Given the description of an element on the screen output the (x, y) to click on. 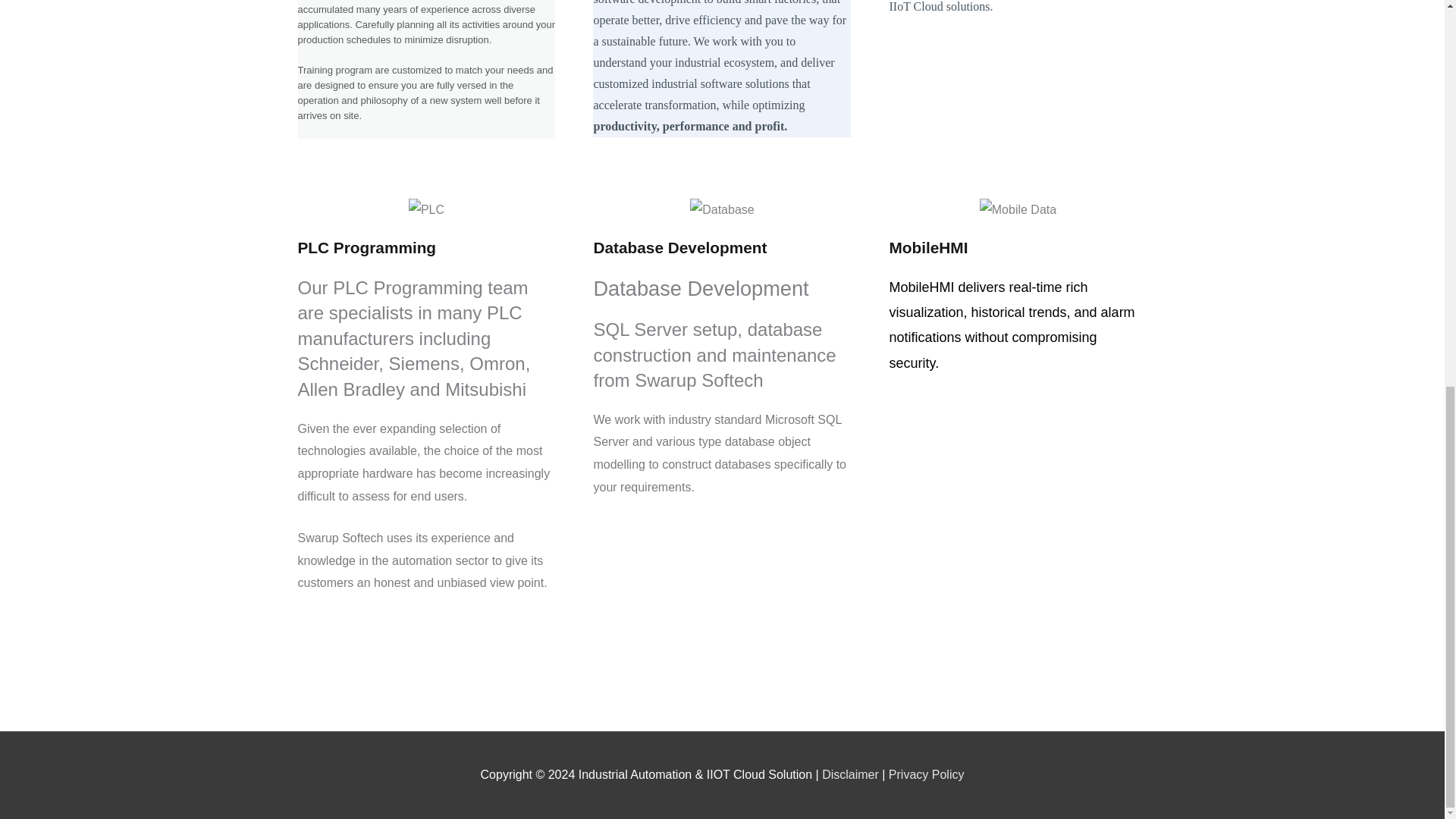
Database Development (679, 247)
Disclaimer (850, 774)
Database Software (722, 210)
Mobile Application (1018, 210)
MobileHMI (928, 247)
Privacy Policy (925, 774)
PLC (426, 210)
